Given the description of an element on the screen output the (x, y) to click on. 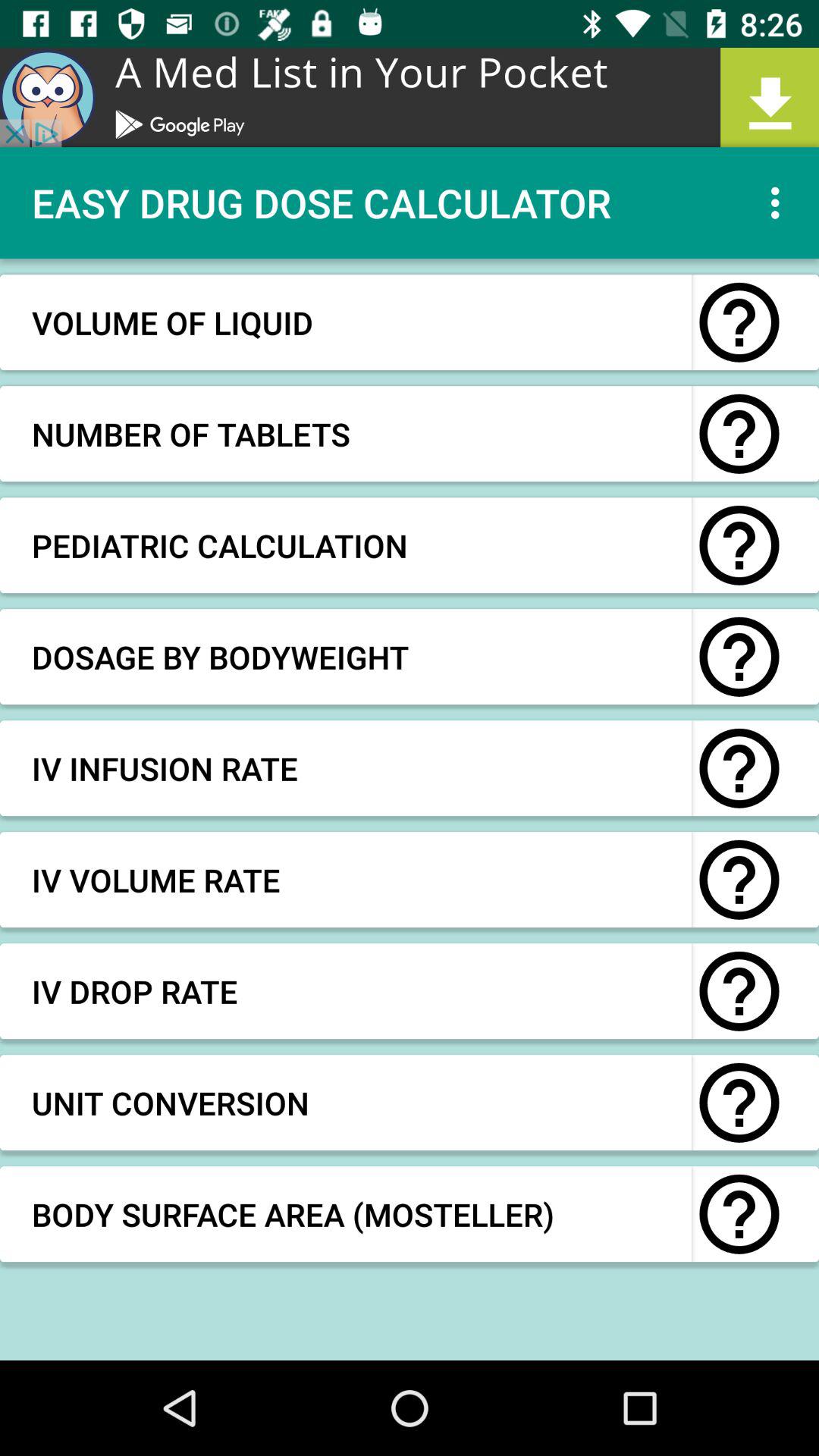
select button (739, 656)
